Given the description of an element on the screen output the (x, y) to click on. 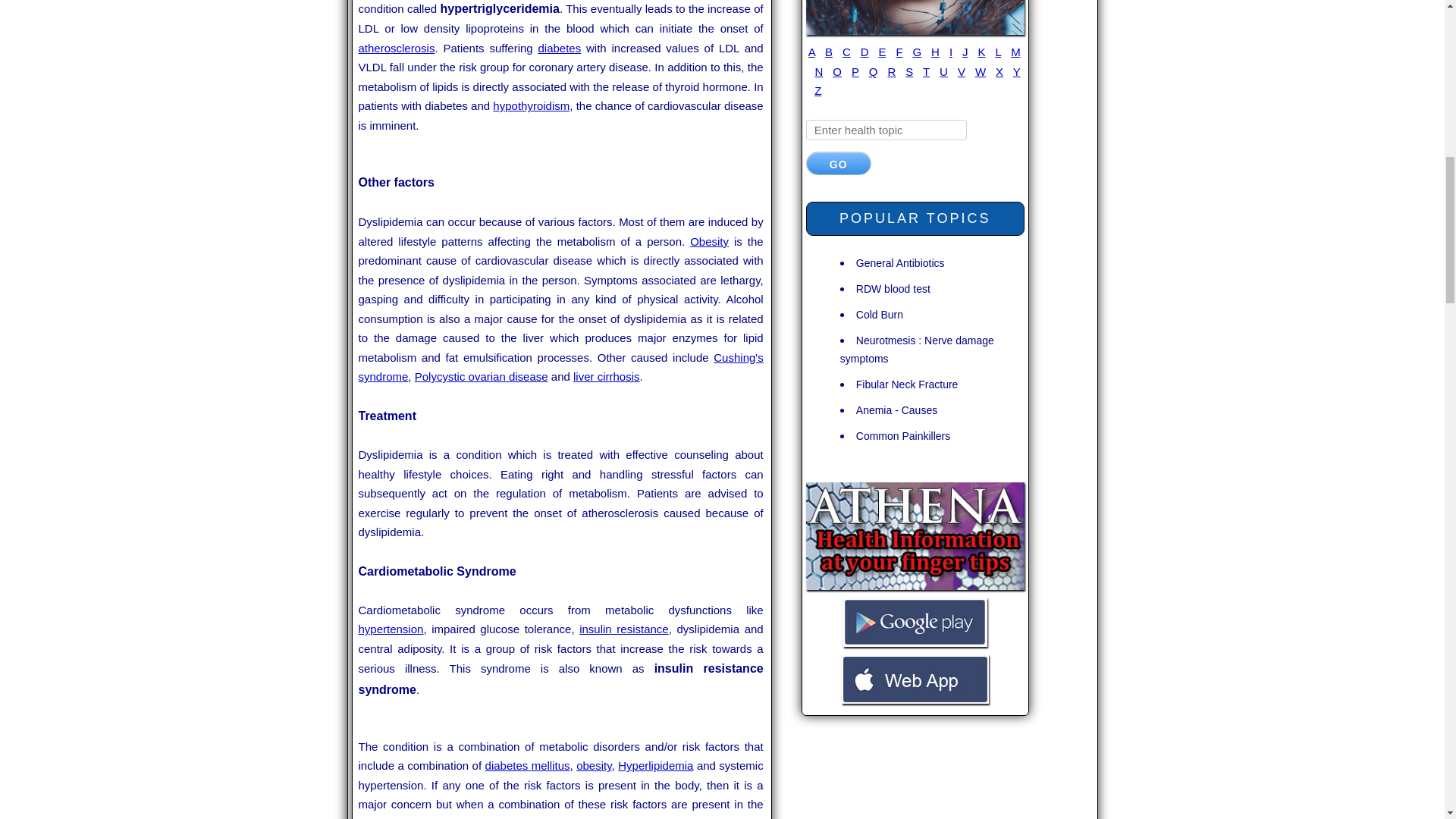
Common PainKillers (903, 435)
Neurotmesis : Nerve damage symptoms (917, 348)
atherosclerosis (395, 47)
Polycystic ovarian disease (481, 376)
Anemia - Causes, Types and Treatment (896, 409)
Hyperlipidemia (655, 765)
Cold Burn (879, 314)
hypertension (390, 628)
insulin resistance (623, 628)
diabetes mellitus (527, 765)
Go (838, 163)
hypothyroidism (531, 105)
obesity (593, 765)
RDW blood test (893, 287)
Fibular Neck Fracture (907, 383)
